Given the description of an element on the screen output the (x, y) to click on. 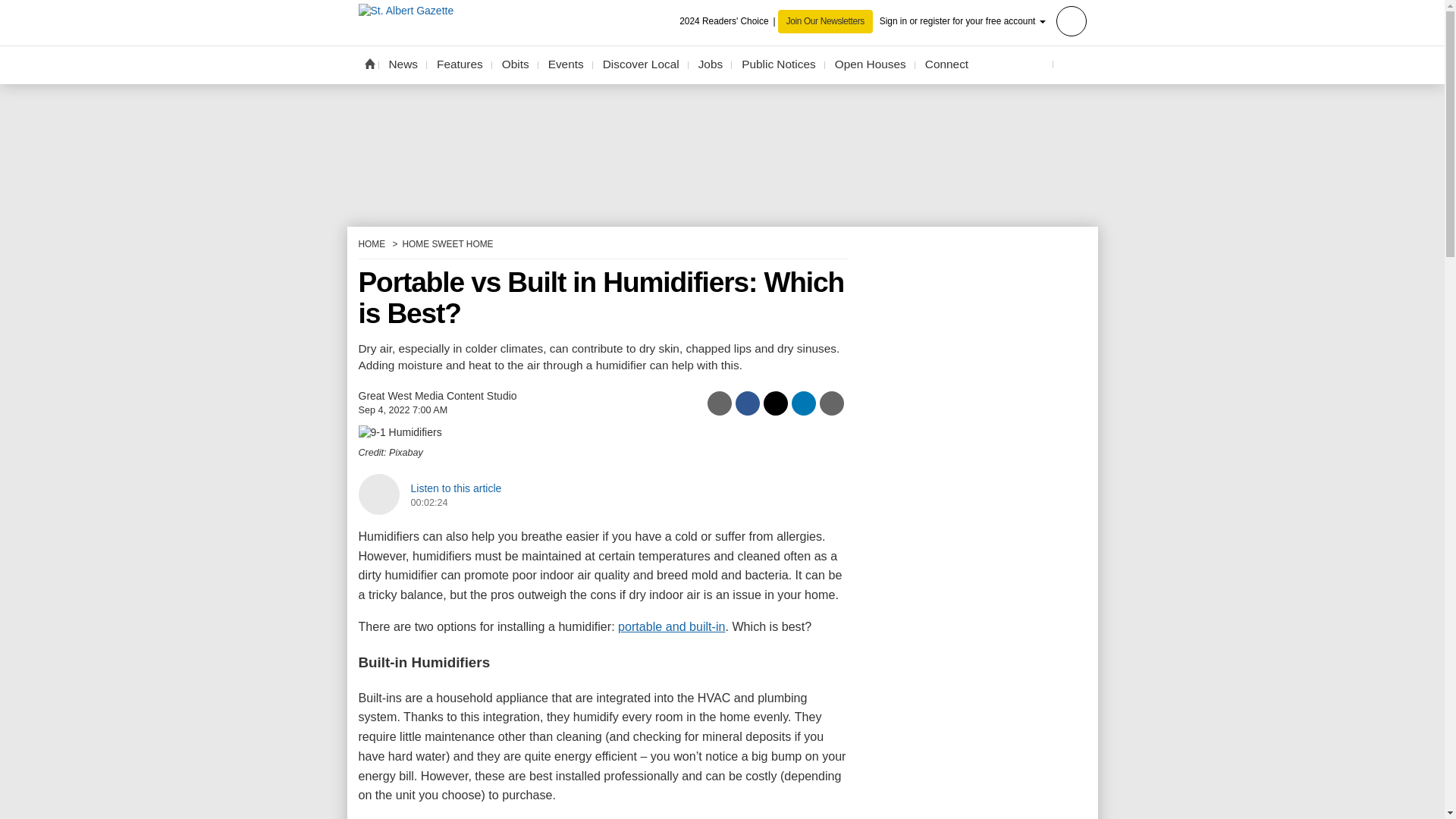
Home (368, 63)
2024 Readers' Choice (728, 21)
Sign in or register for your free account (982, 20)
Join Our Newsletters (824, 21)
